Given the description of an element on the screen output the (x, y) to click on. 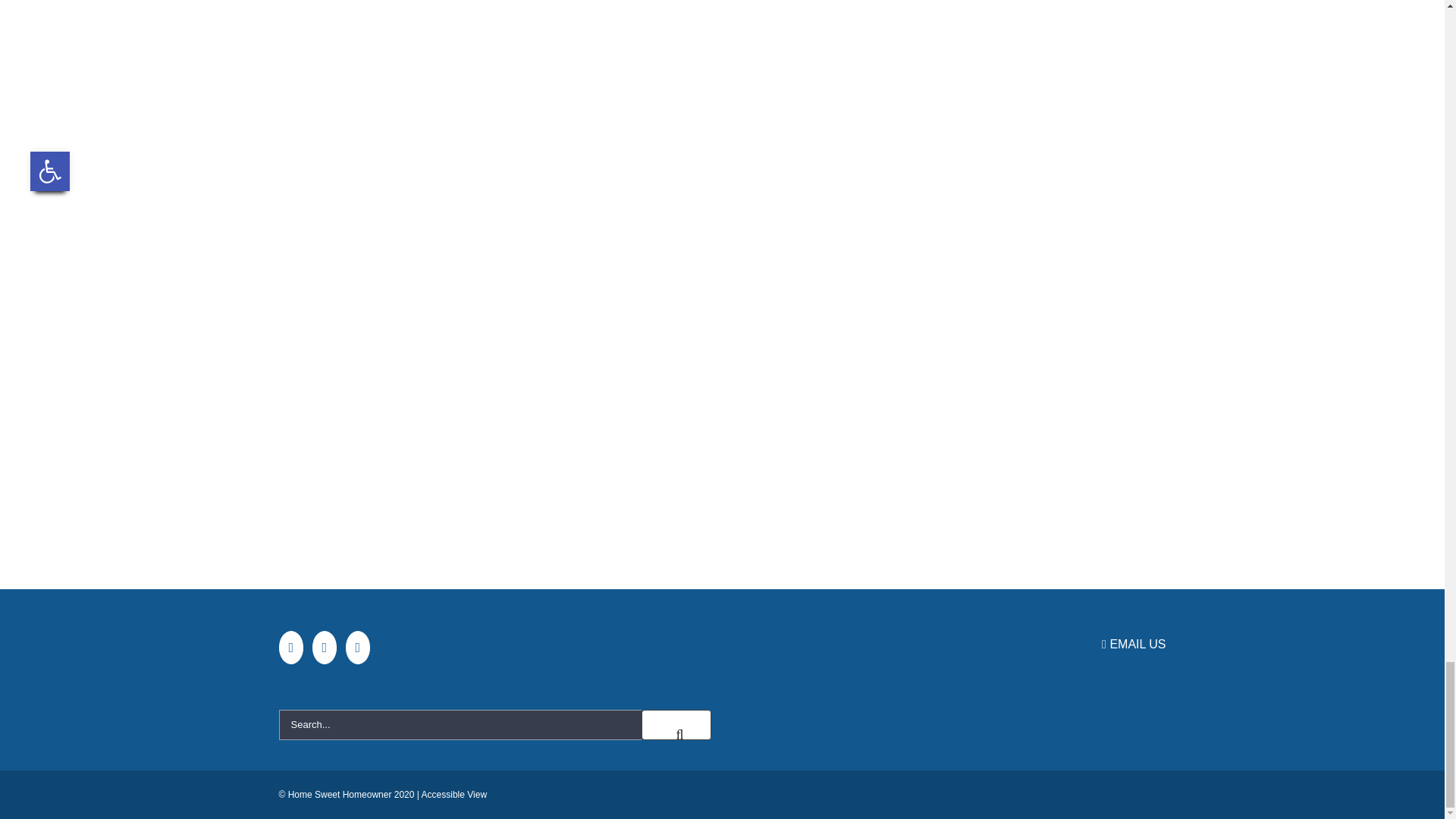
Facebook (291, 647)
Pinterest (358, 647)
Instagram (325, 647)
